Given the description of an element on the screen output the (x, y) to click on. 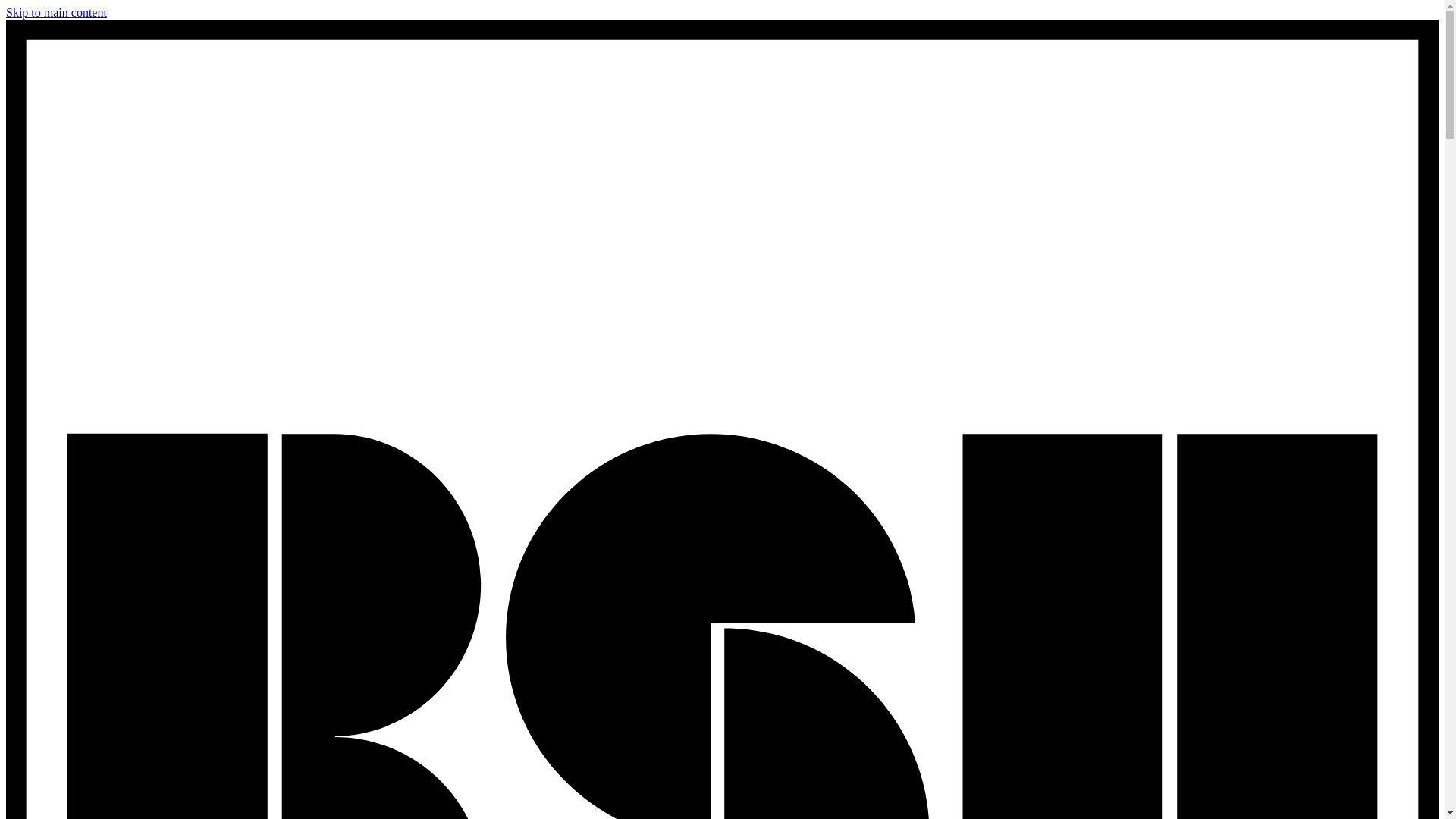
Skip to main content (55, 11)
